Given the description of an element on the screen output the (x, y) to click on. 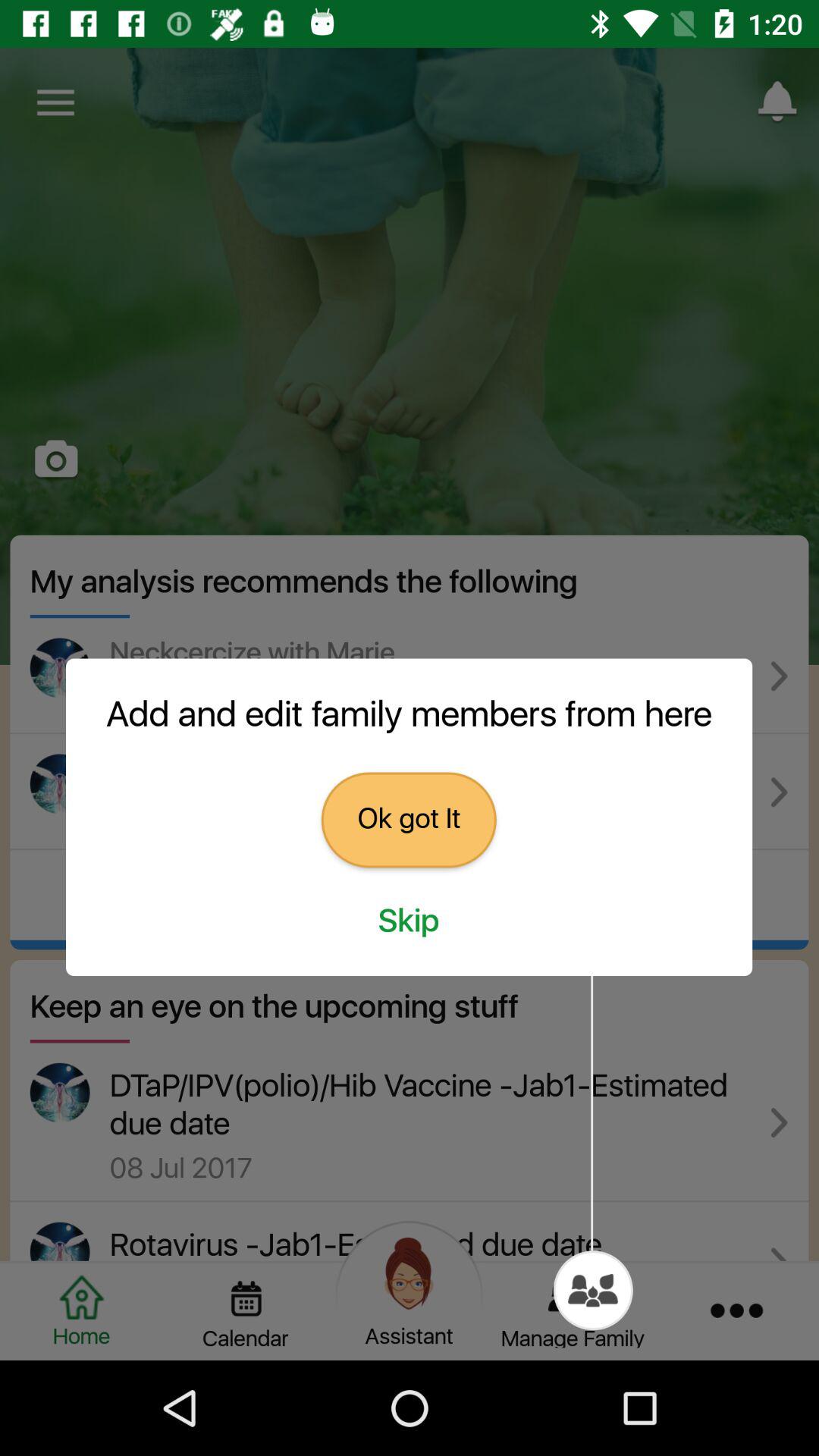
select skip (408, 921)
